Given the description of an element on the screen output the (x, y) to click on. 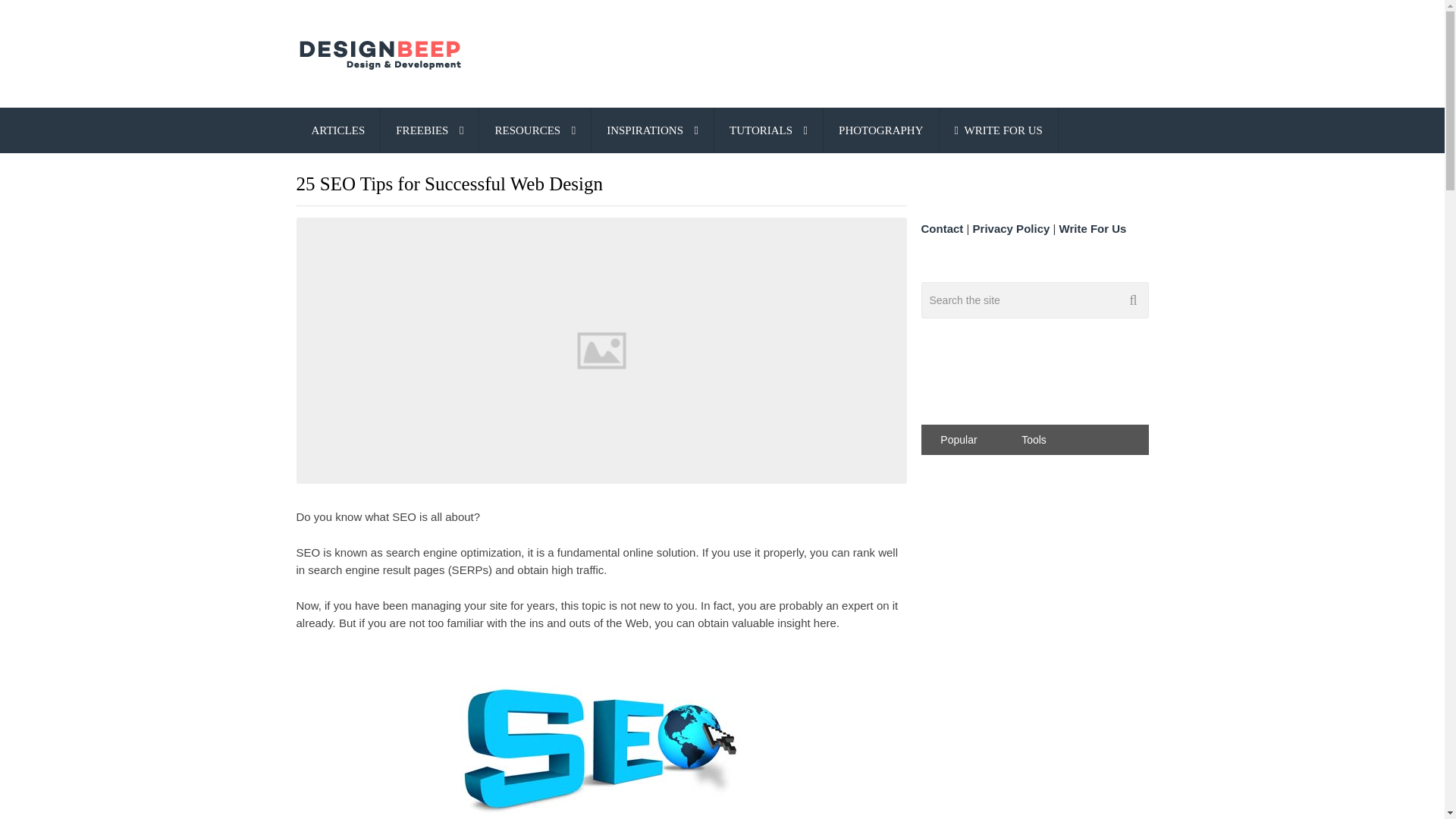
PHOTOGRAPHY (880, 130)
seo (601, 734)
TUTORIALS (768, 130)
ARTICLES (337, 130)
FREEBIES (429, 130)
RESOURCES (535, 130)
INSPIRATIONS (652, 130)
WRITE FOR US (998, 130)
